Given the description of an element on the screen output the (x, y) to click on. 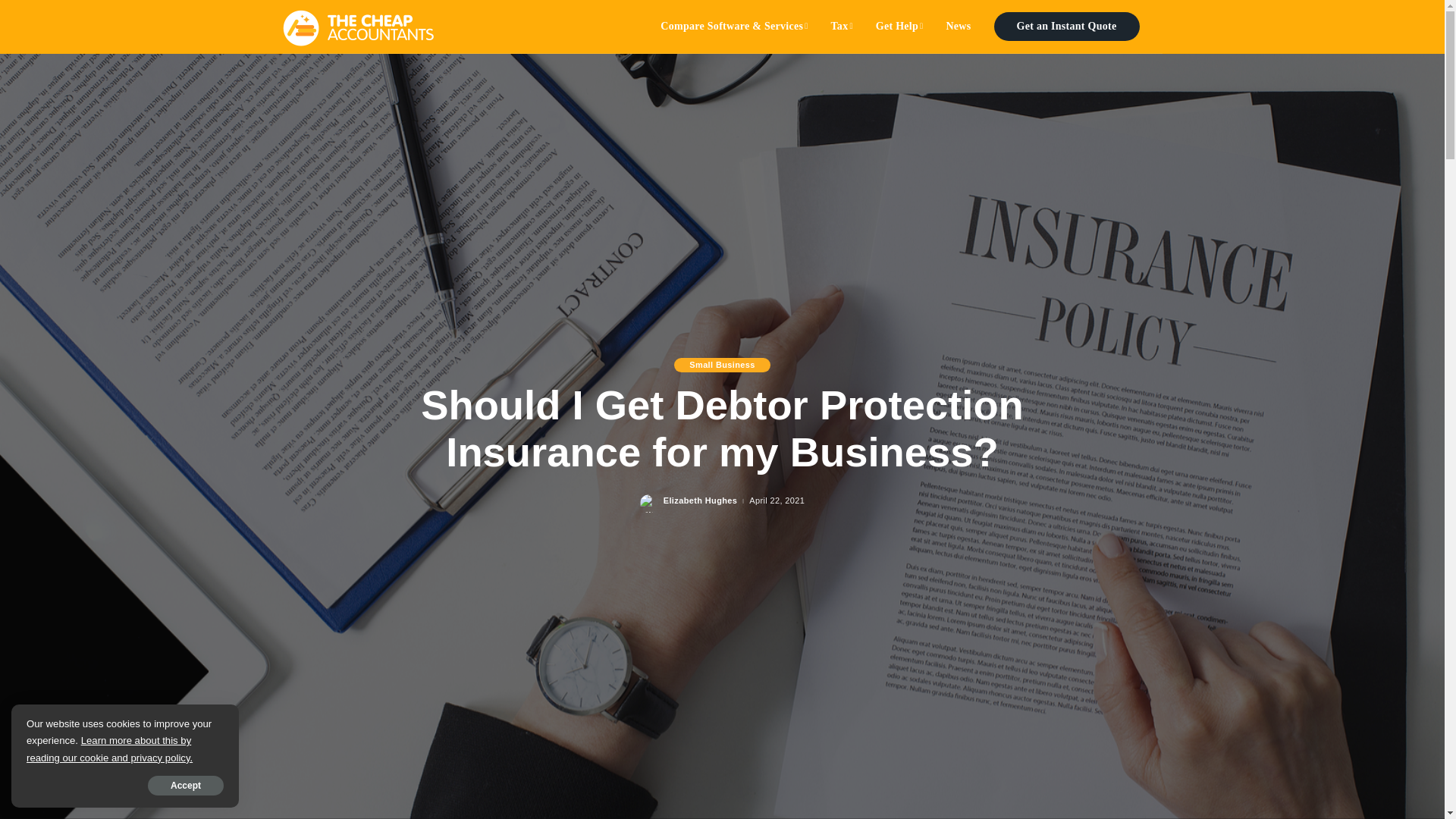
The Cheap Accountants (357, 26)
